Given the description of an element on the screen output the (x, y) to click on. 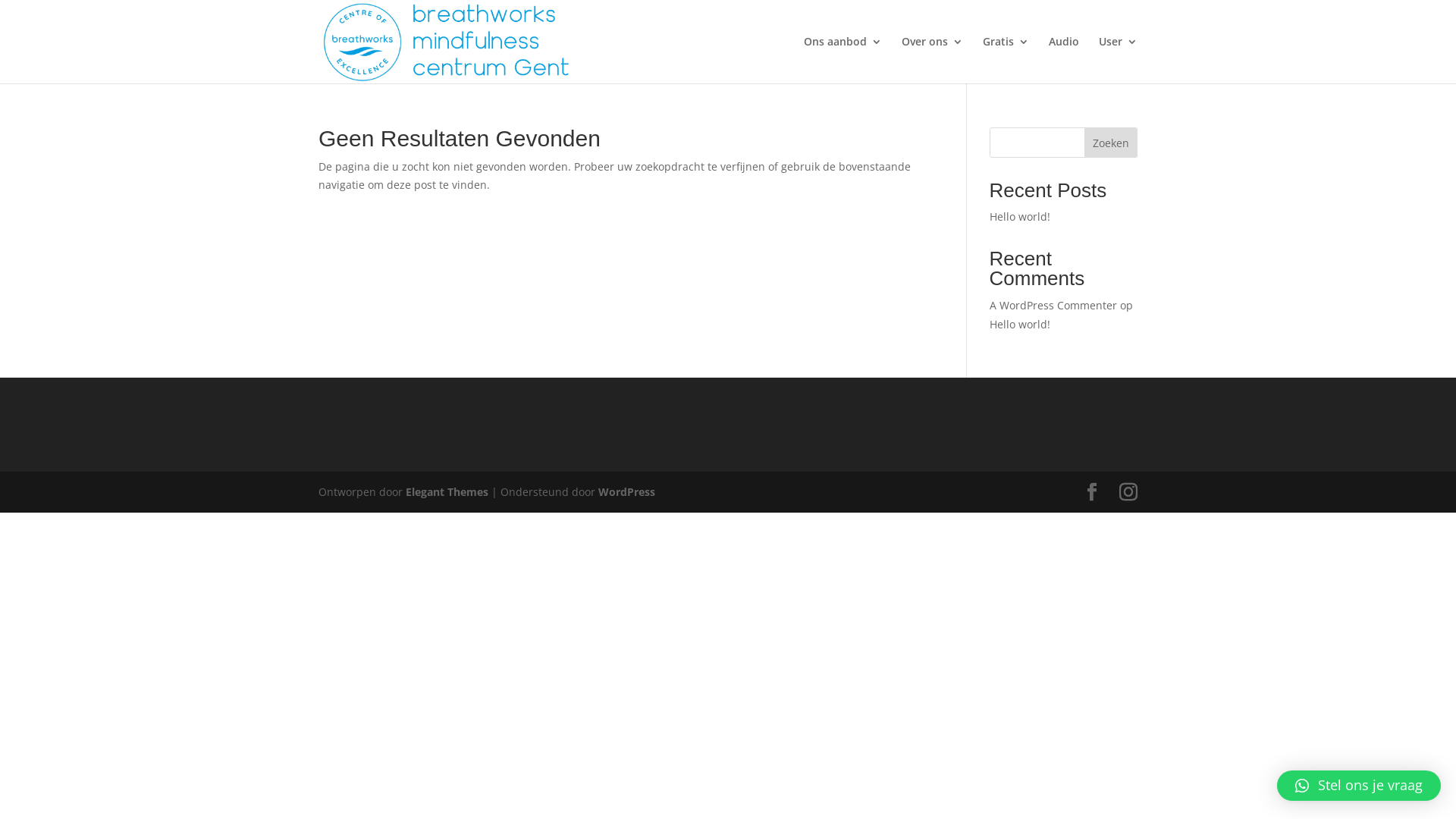
Over ons Element type: text (932, 59)
Audio Element type: text (1063, 59)
Hello world! Element type: text (1019, 323)
Zoeken Element type: text (1110, 142)
Ons aanbod Element type: text (842, 59)
Gratis Element type: text (1005, 59)
Elegant Themes Element type: text (446, 491)
Hello world! Element type: text (1019, 216)
Stel ons je vraag Element type: text (1358, 785)
A WordPress Commenter Element type: text (1053, 305)
WordPress Element type: text (626, 491)
User Element type: text (1117, 59)
